Given the description of an element on the screen output the (x, y) to click on. 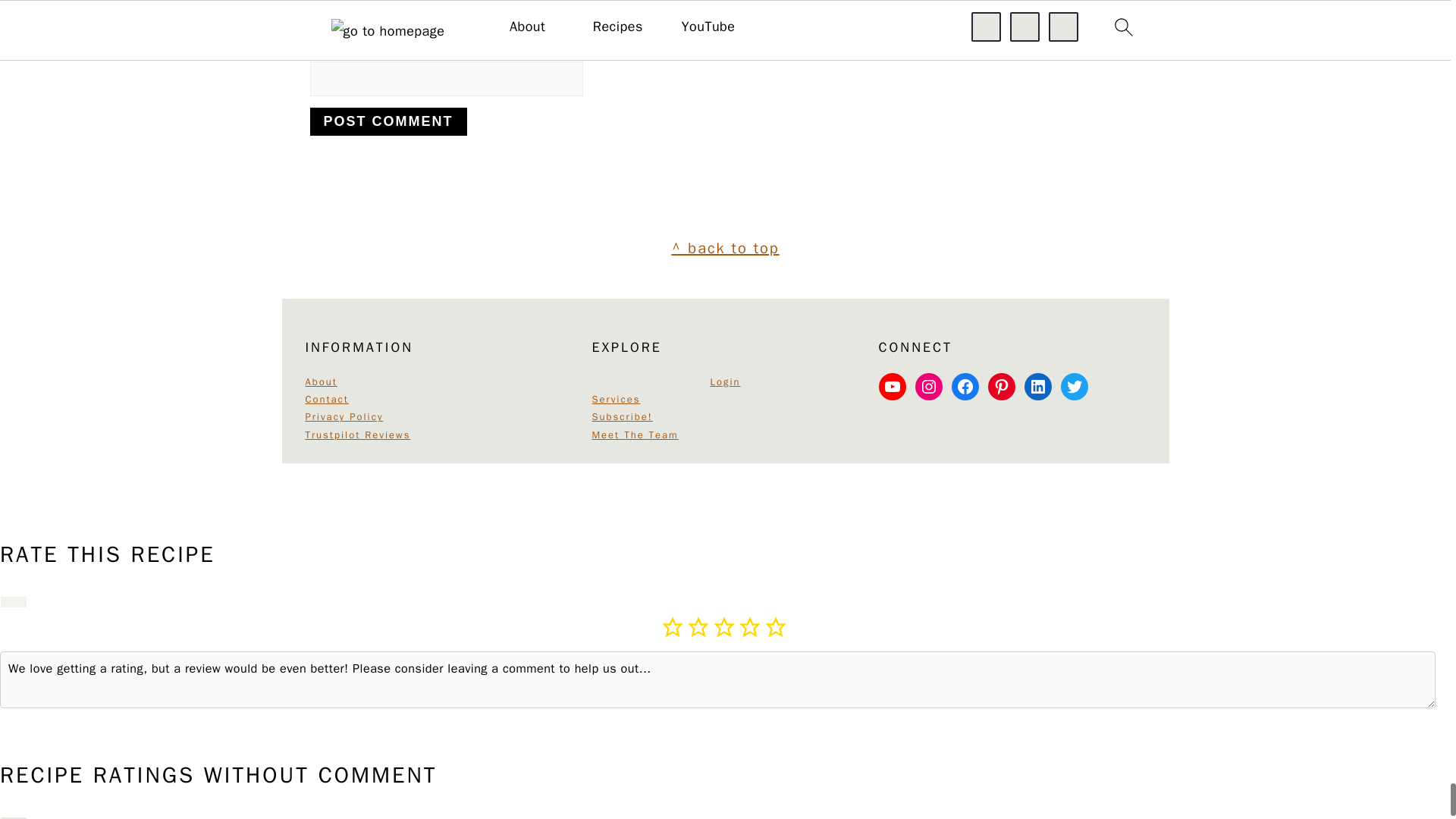
Post Comment (386, 121)
